Given the description of an element on the screen output the (x, y) to click on. 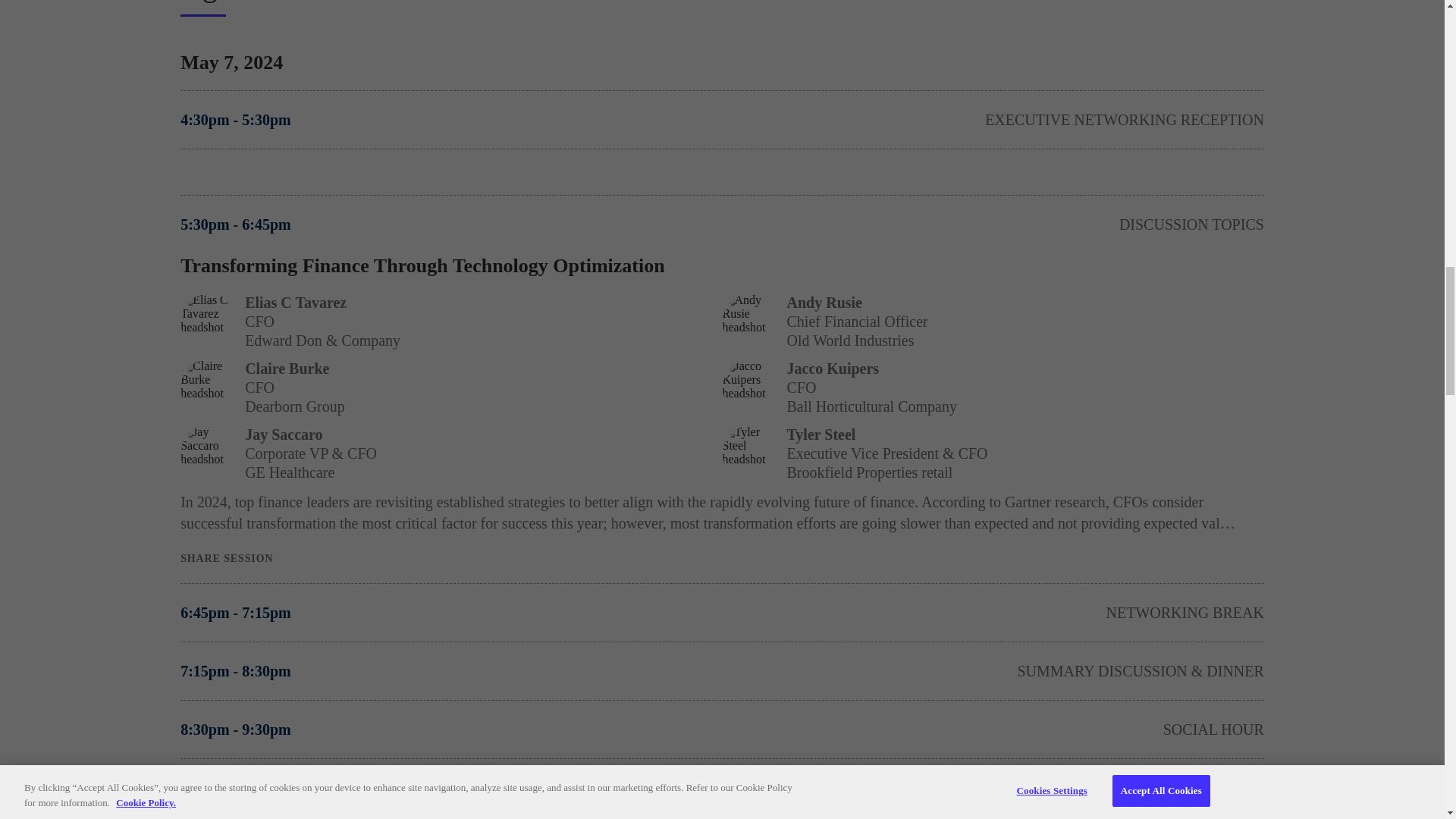
Andy Rusie headshot (750, 321)
Jacco Kuipers headshot (750, 387)
Claire Burke headshot (208, 387)
Tyler Steel headshot (750, 453)
Jay Saccaro headshot (208, 453)
Elias C Tavarez headshot (208, 321)
